Given the description of an element on the screen output the (x, y) to click on. 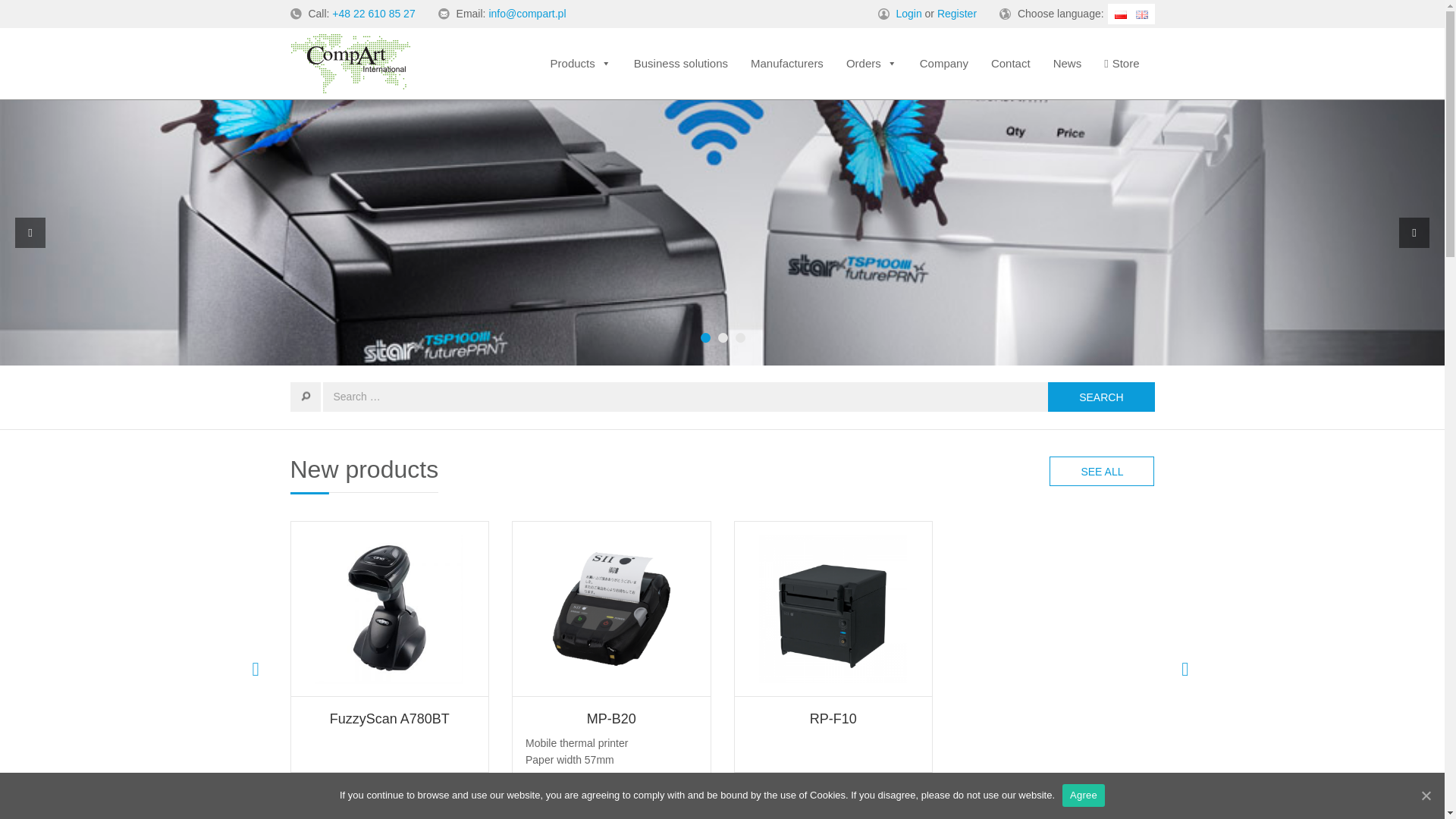
Compart (349, 62)
Register (956, 13)
Products (580, 63)
Search (1101, 396)
Search (1101, 396)
Login (908, 13)
